Given the description of an element on the screen output the (x, y) to click on. 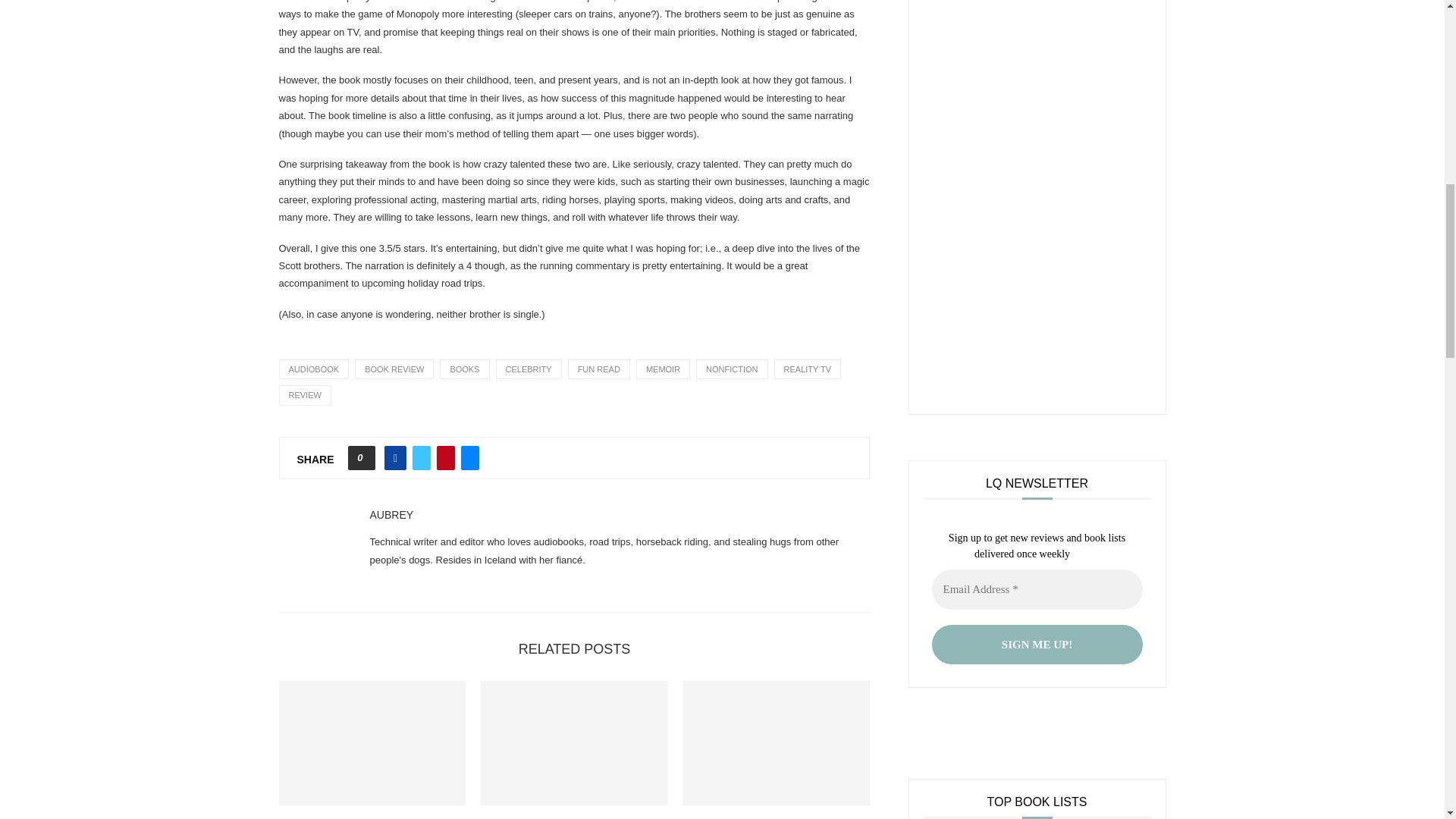
Author Aubrey (391, 514)
Review: Playing for Freedom by Zarifa Adiba (574, 742)
Review: When Women Were Dragons by Kelly Barnhill (372, 742)
Review: Translation State by Anne Leckie (776, 742)
Sign me up! (1036, 644)
